Given the description of an element on the screen output the (x, y) to click on. 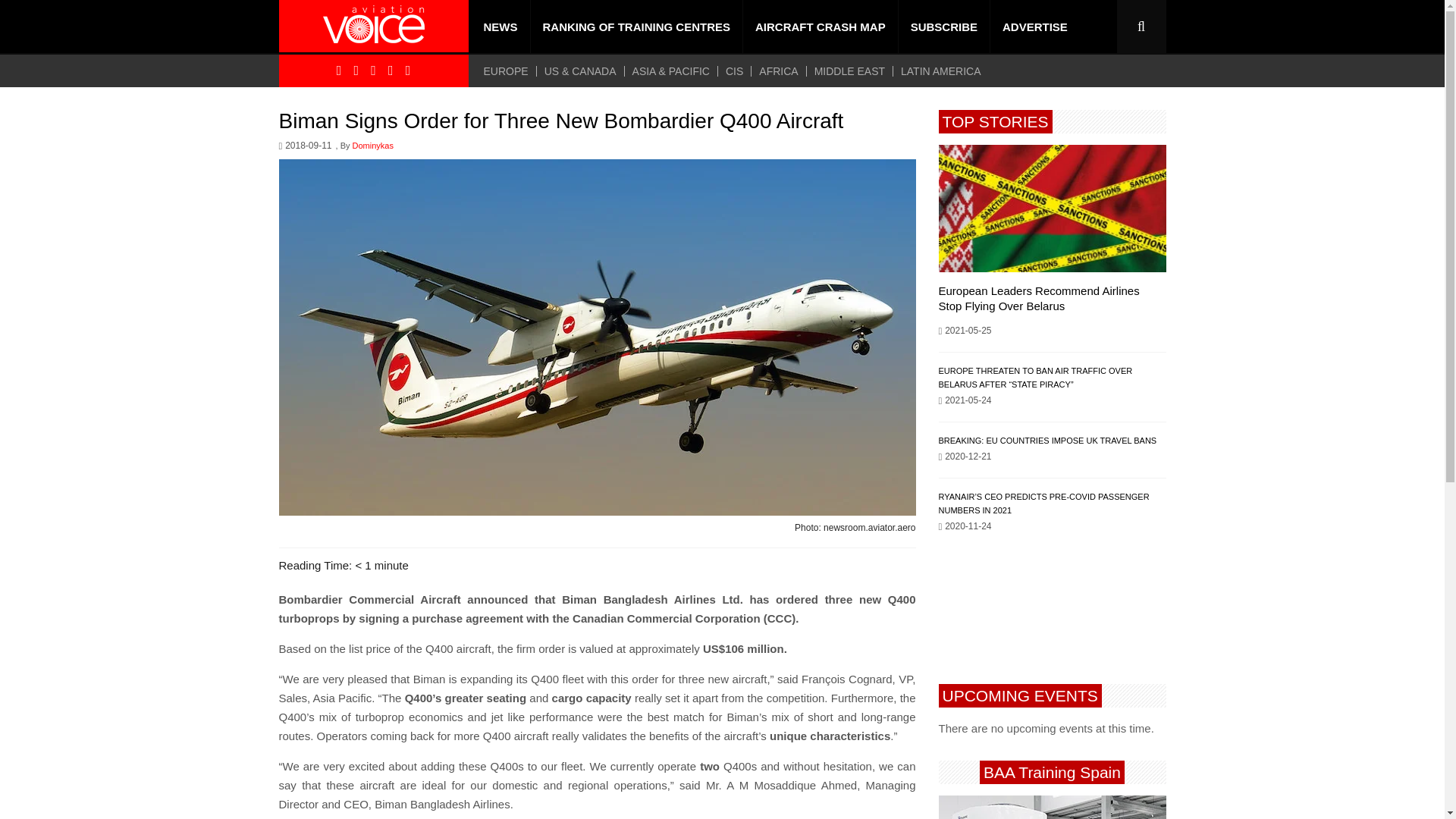
CIS (734, 71)
MIDDLE EAST (849, 71)
LATIN AMERICA (940, 71)
ADVERTISE (1035, 26)
RANKING OF TRAINING CENTRES (636, 26)
SUBSCRIBE (944, 26)
NEWS (500, 26)
AIRCRAFT CRASH MAP (820, 26)
AFRICA (778, 71)
EUROPE (509, 71)
Dominykas (372, 145)
